Given the description of an element on the screen output the (x, y) to click on. 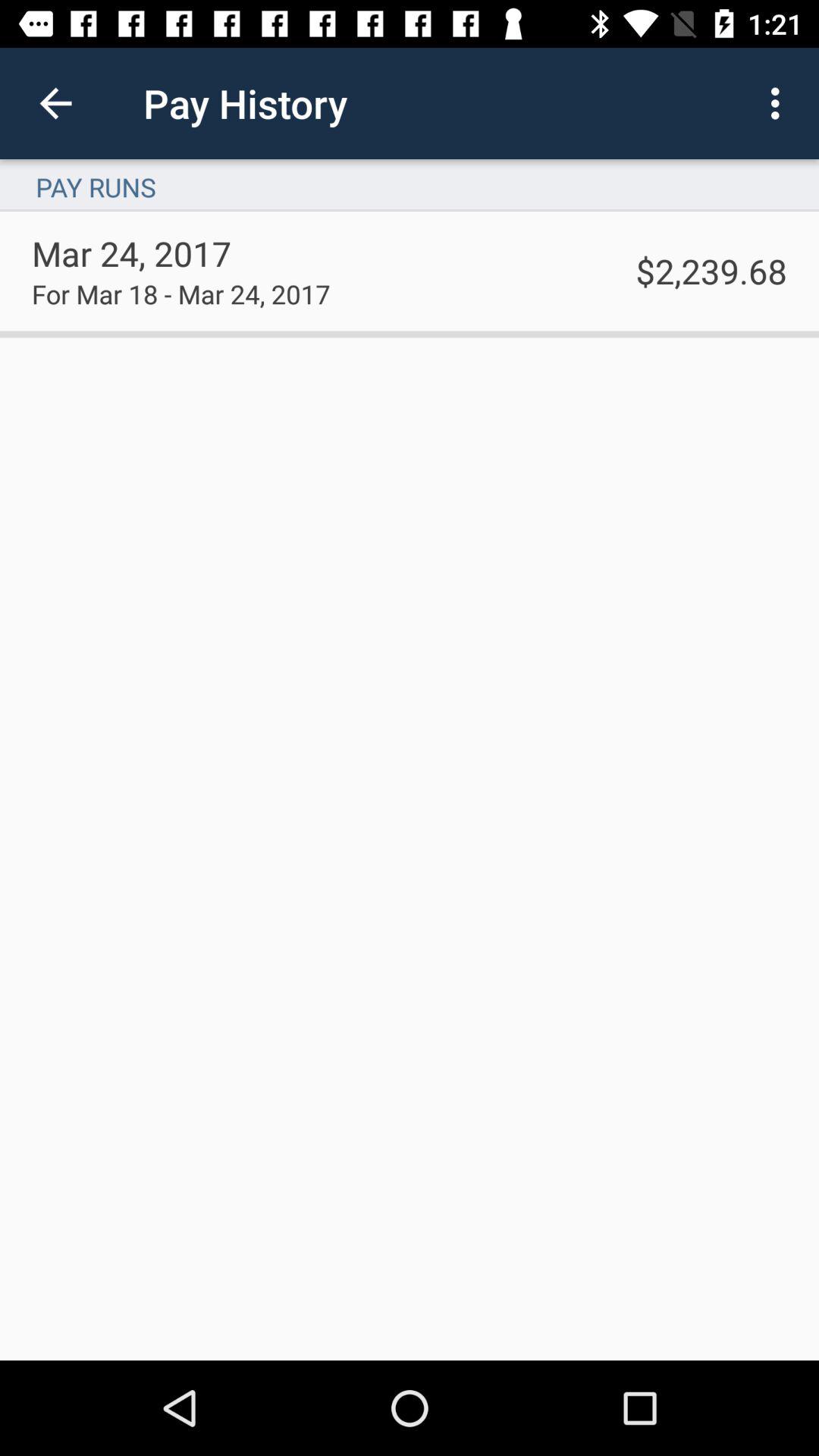
scroll until the for mar 18 icon (180, 293)
